Given the description of an element on the screen output the (x, y) to click on. 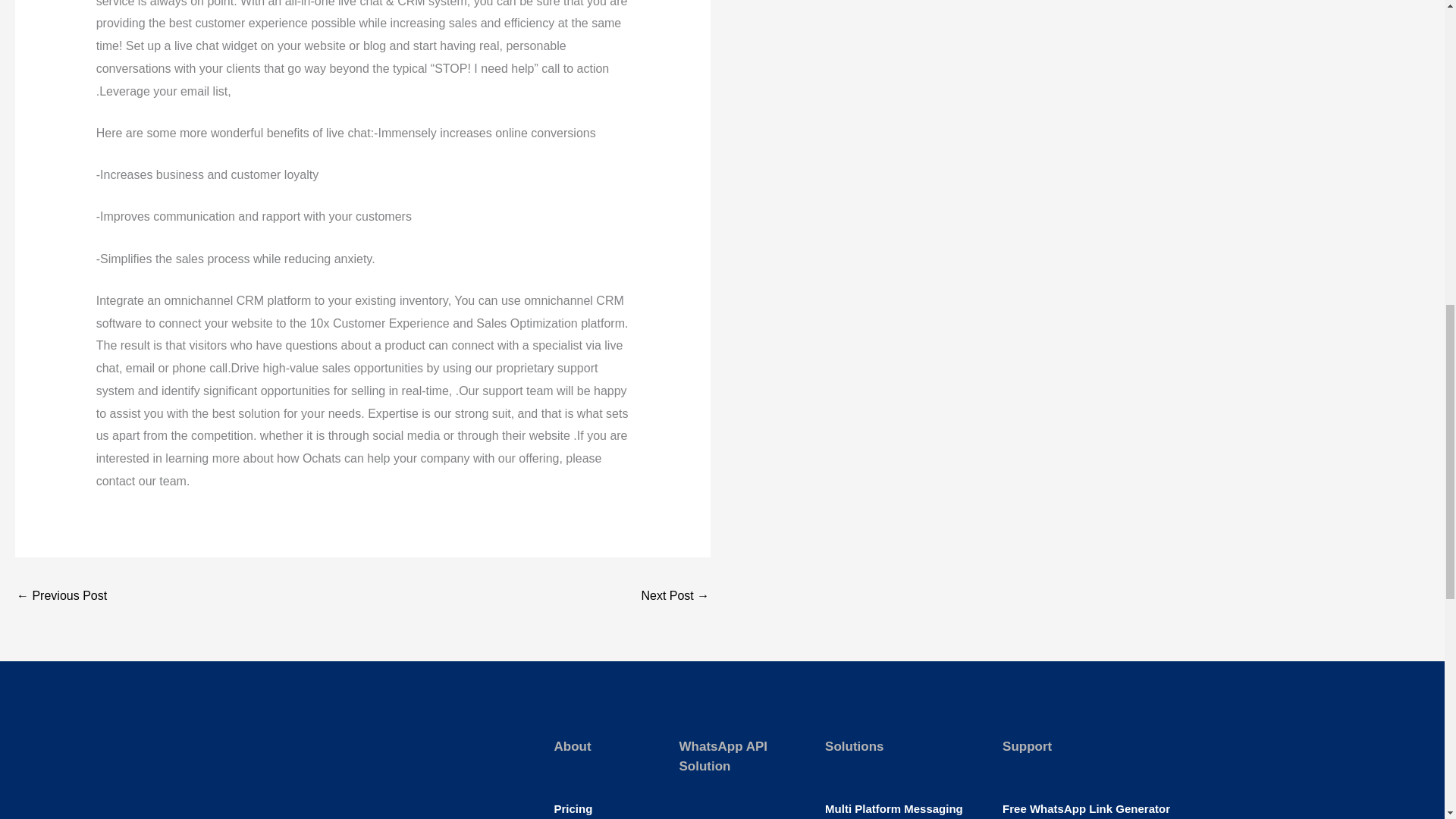
How to Grow Your Business with oChats? (61, 596)
